Given the description of an element on the screen output the (x, y) to click on. 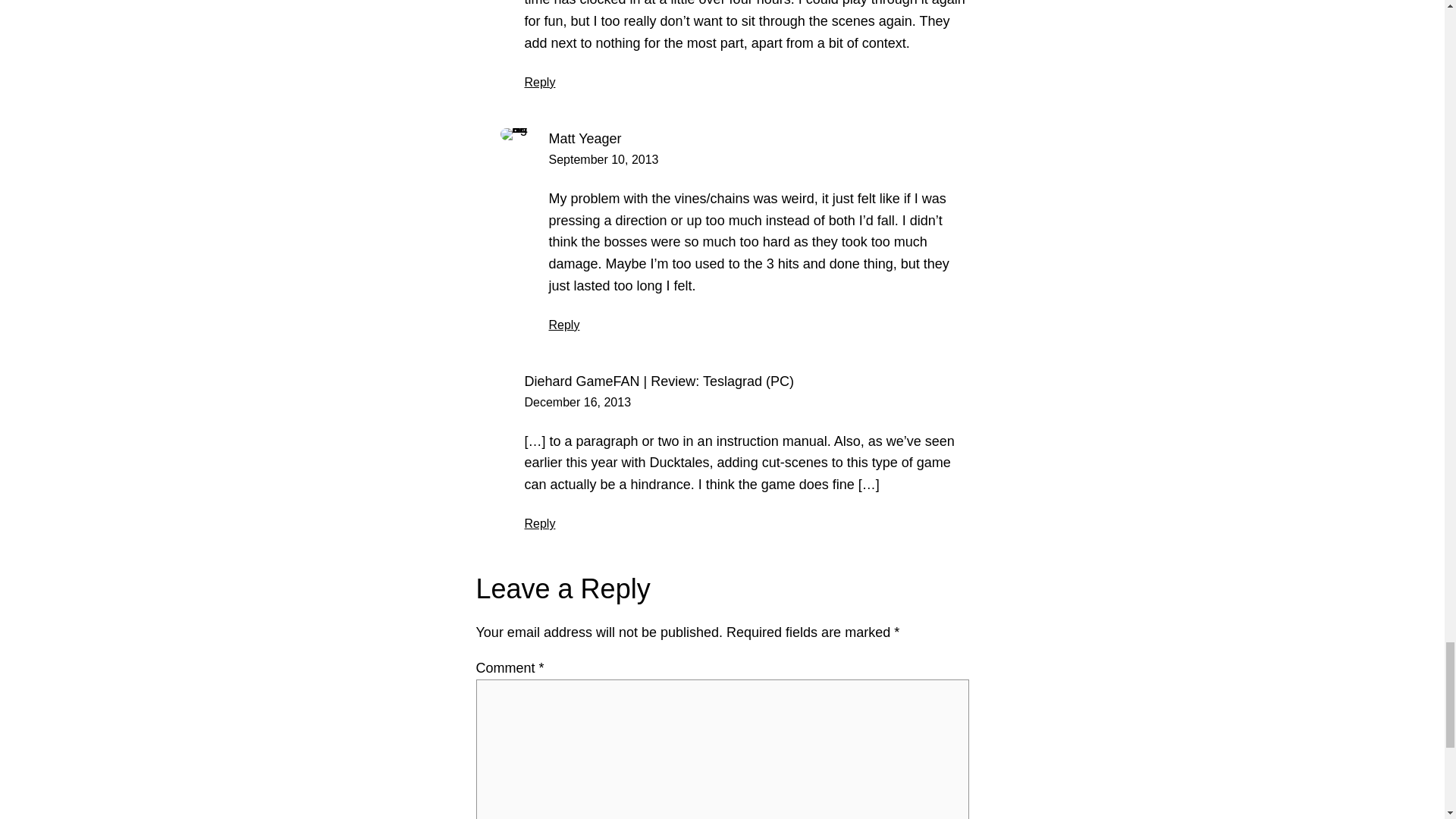
September 10, 2013 (603, 159)
Reply (540, 82)
Reply (563, 324)
December 16, 2013 (577, 401)
Reply (540, 522)
